Given the description of an element on the screen output the (x, y) to click on. 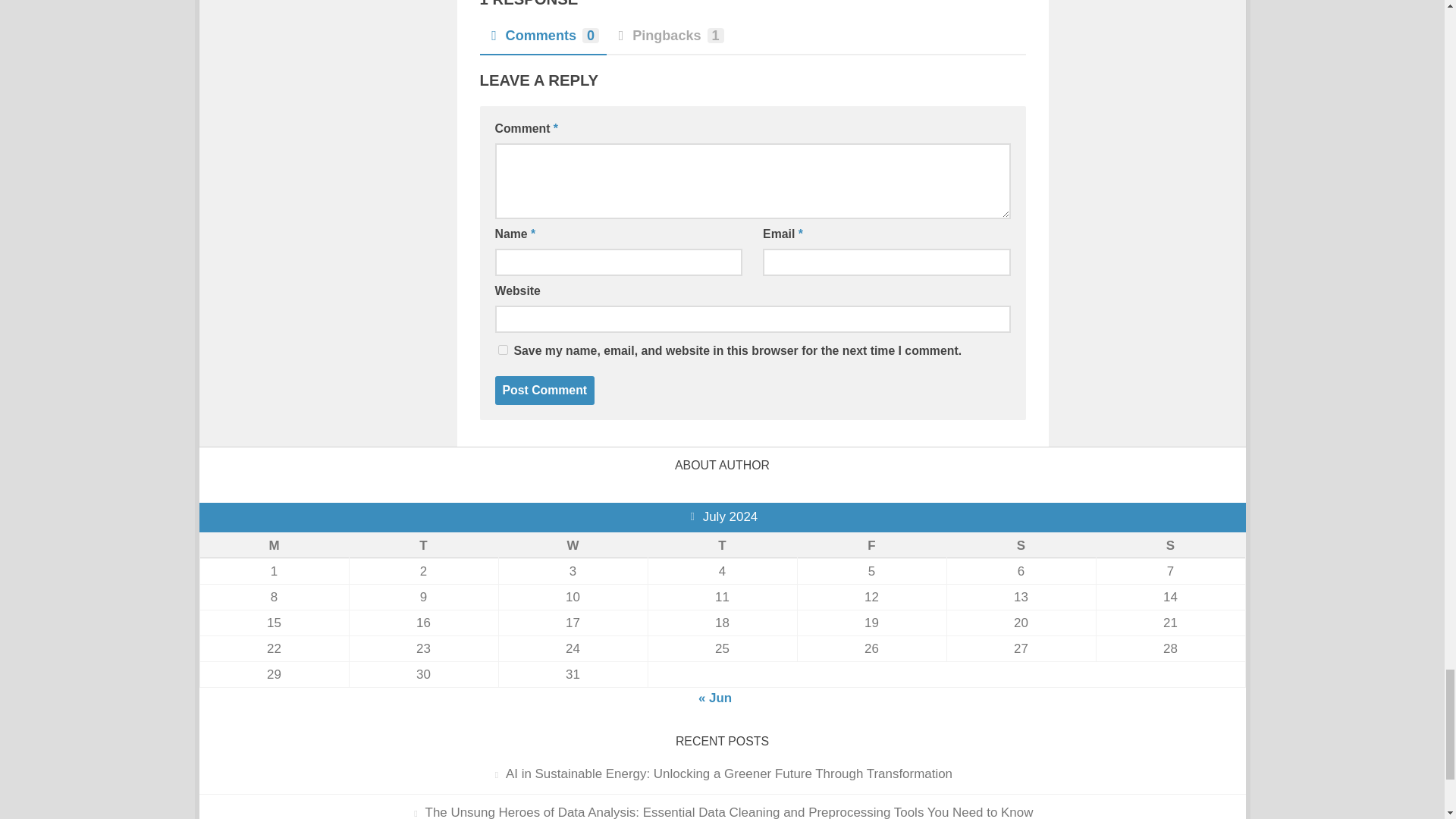
Post Comment (544, 389)
yes (501, 349)
